Given the description of an element on the screen output the (x, y) to click on. 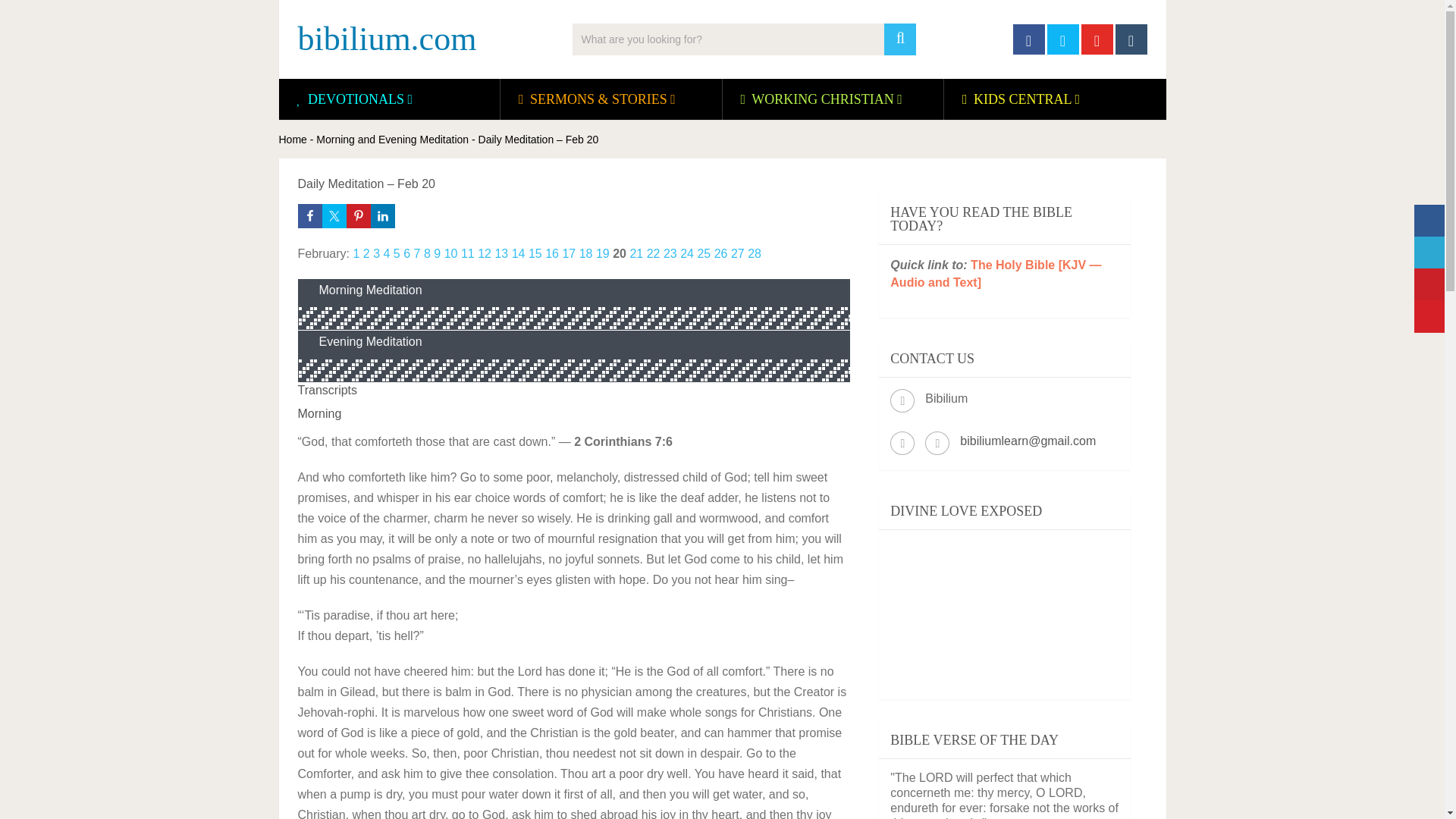
19 (602, 253)
WORKING CHRISTIAN (822, 98)
16 (551, 253)
bibilium.com (386, 39)
23 (670, 253)
24 (686, 253)
13 (501, 253)
Share on Pinterest (357, 215)
21 (635, 253)
Share on LinkedIn (381, 215)
